Given the description of an element on the screen output the (x, y) to click on. 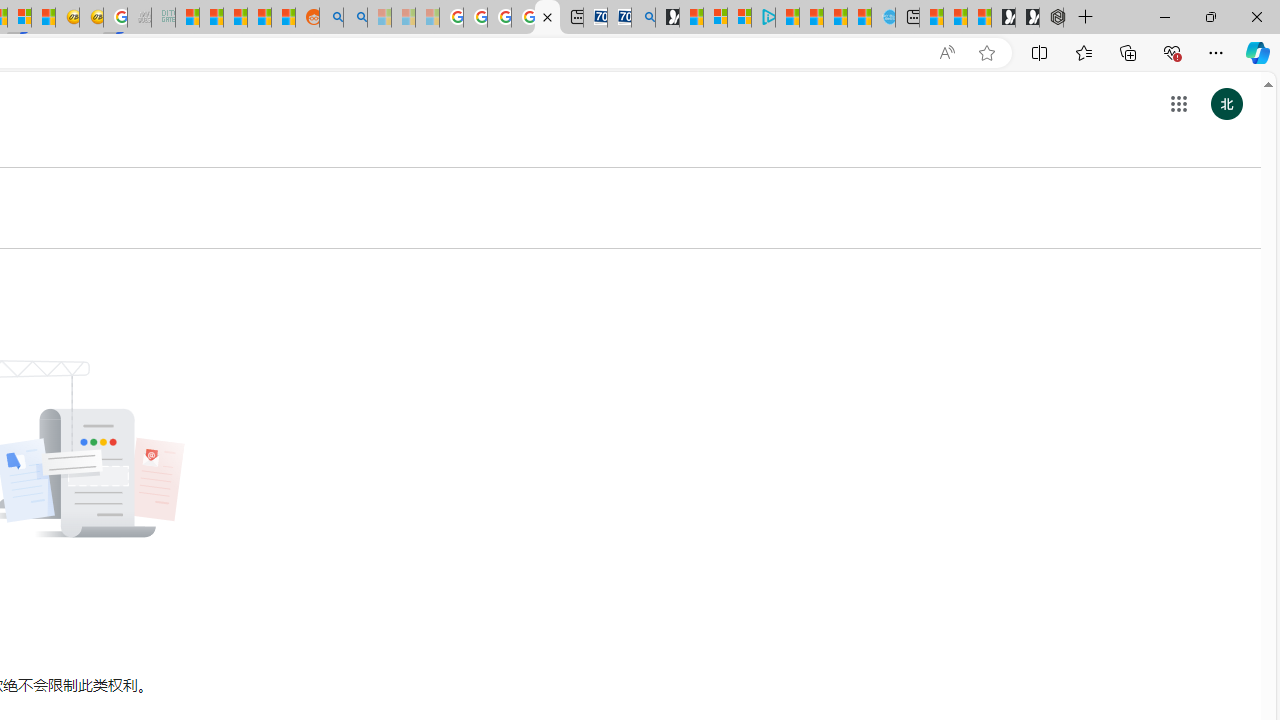
Bing Real Estate - Home sales and rental listings (643, 17)
